Given the description of an element on the screen output the (x, y) to click on. 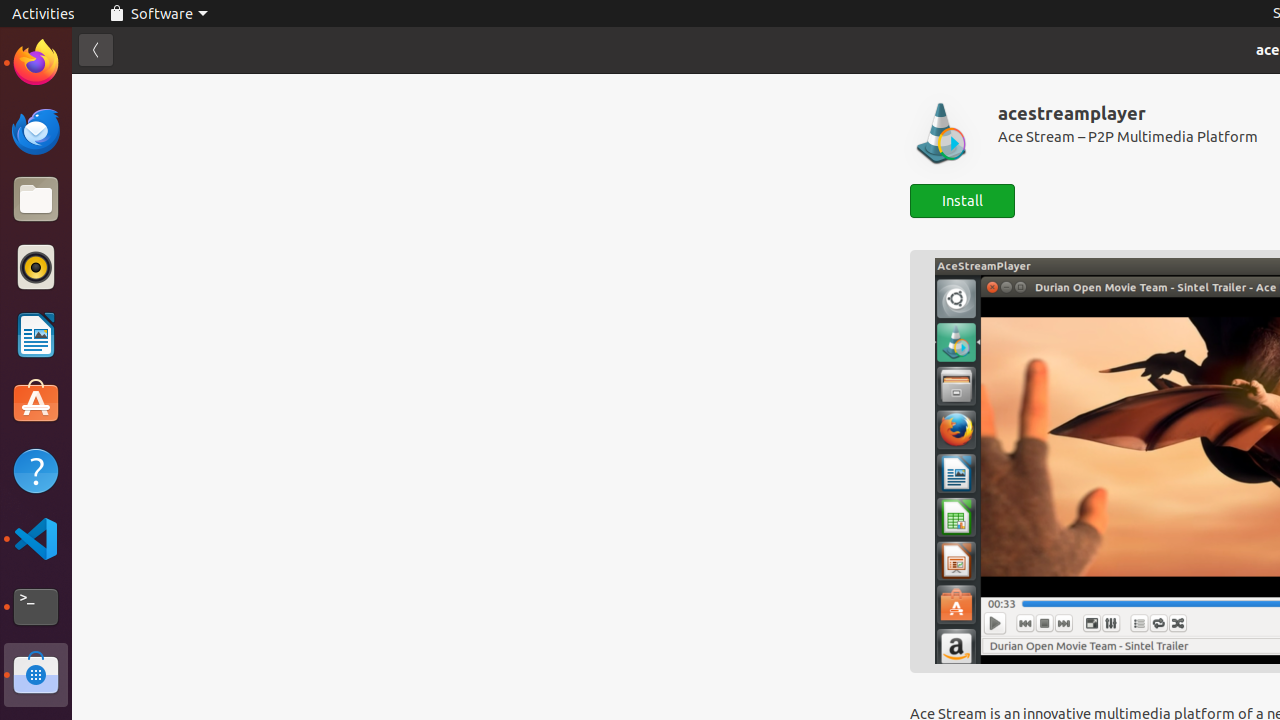
Terminal Element type: push-button (36, 607)
Trash Element type: label (133, 191)
Software Element type: menu (158, 13)
Firefox Web Browser Element type: push-button (36, 63)
